Given the description of an element on the screen output the (x, y) to click on. 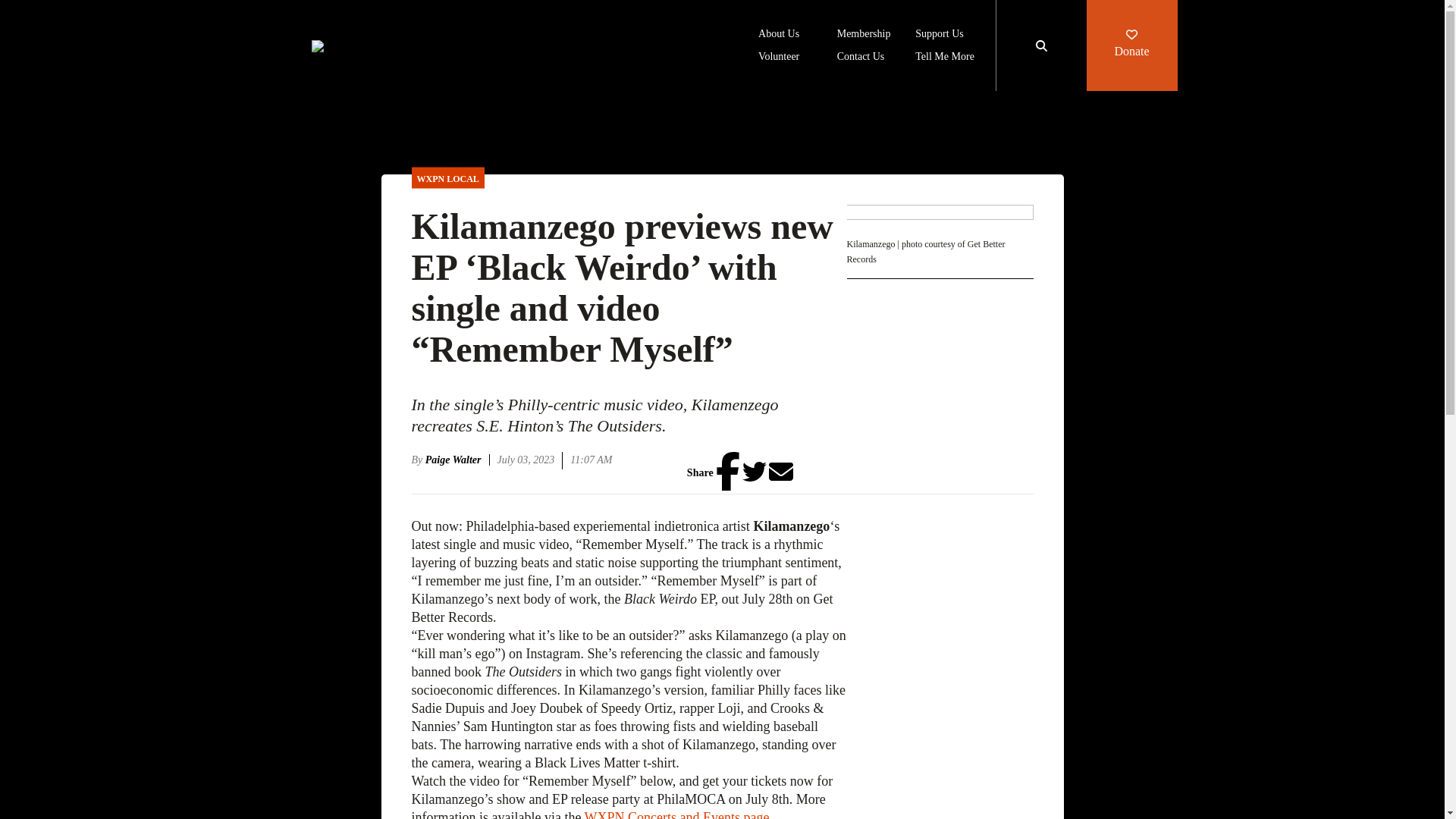
WXPN Concerts and Events page (677, 814)
Volunteer (778, 57)
Membership (864, 35)
Donate (1131, 45)
Contact Us (861, 57)
Support Us (938, 35)
Tell Me More (944, 57)
Paige Walter (457, 460)
About Us (778, 35)
